Given the description of an element on the screen output the (x, y) to click on. 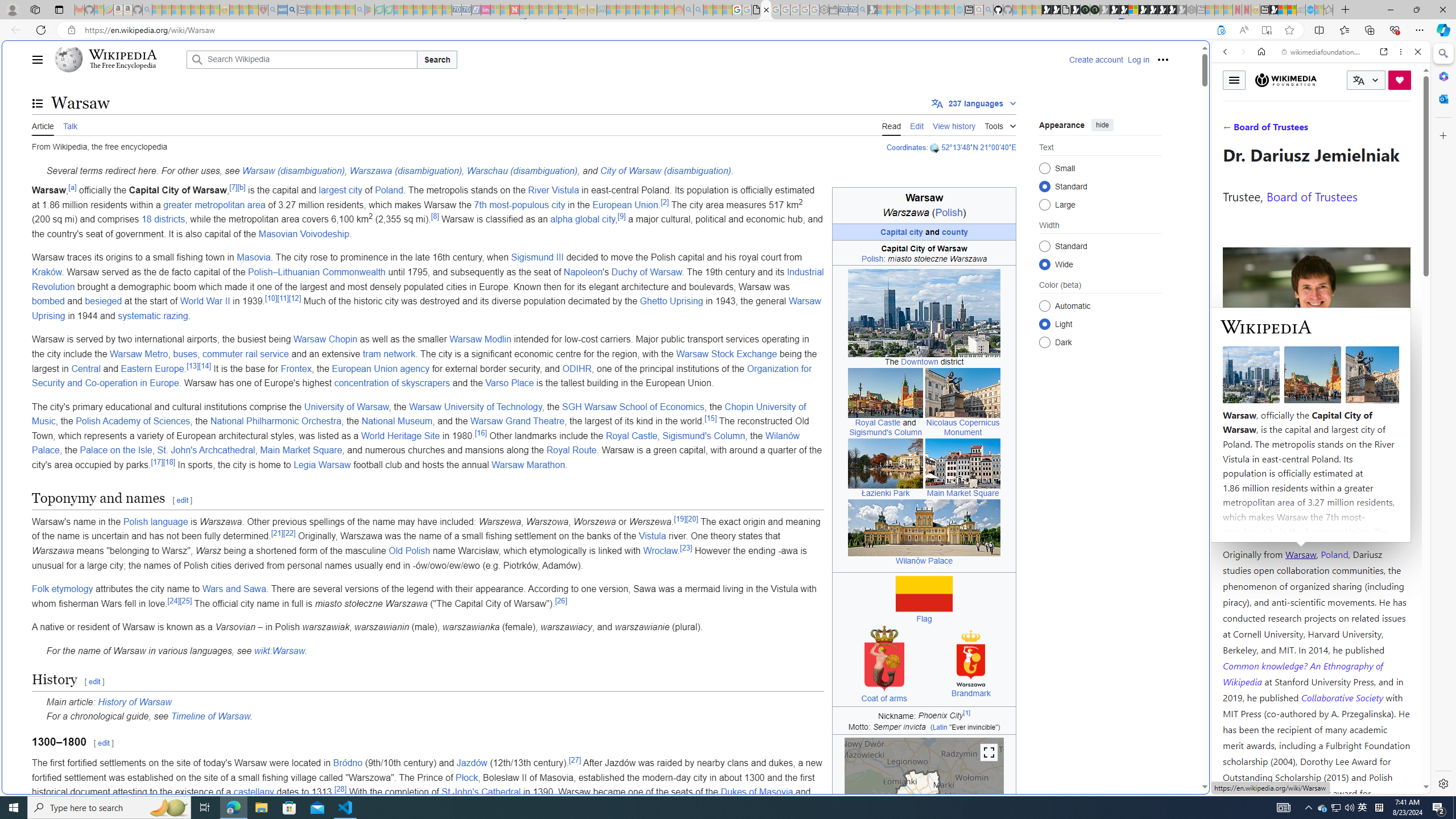
Search or enter web address (922, 108)
hide (1102, 124)
Dukes of Masovia (756, 792)
Board of Trustees (1311, 195)
[13] (192, 365)
[10] (271, 297)
Article (42, 124)
